Given the description of an element on the screen output the (x, y) to click on. 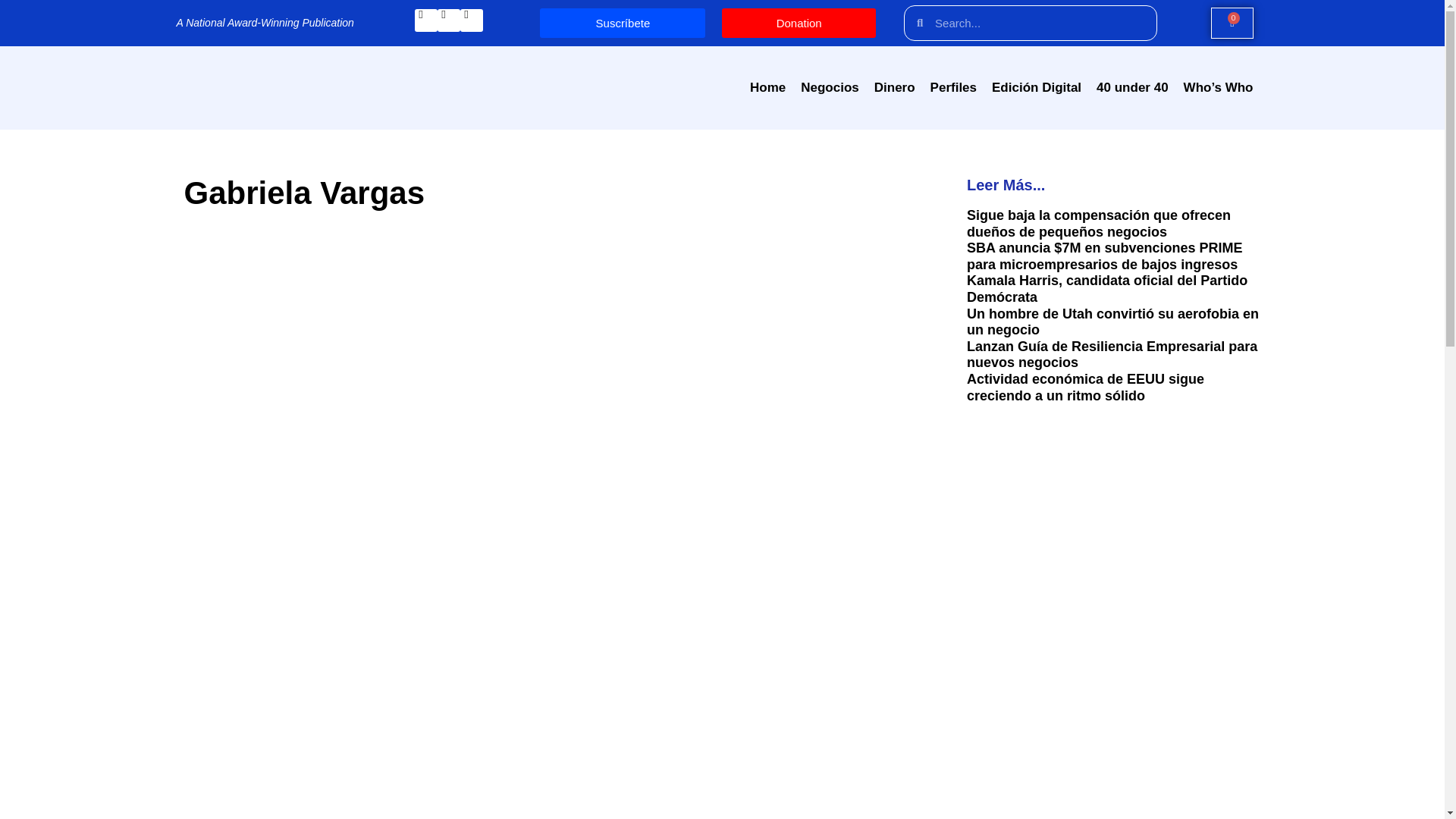
40 under 40 (1132, 87)
Donation (798, 22)
Dinero (894, 87)
Negocios (829, 87)
Home (767, 87)
0 (1231, 22)
Perfiles (953, 87)
